Given the description of an element on the screen output the (x, y) to click on. 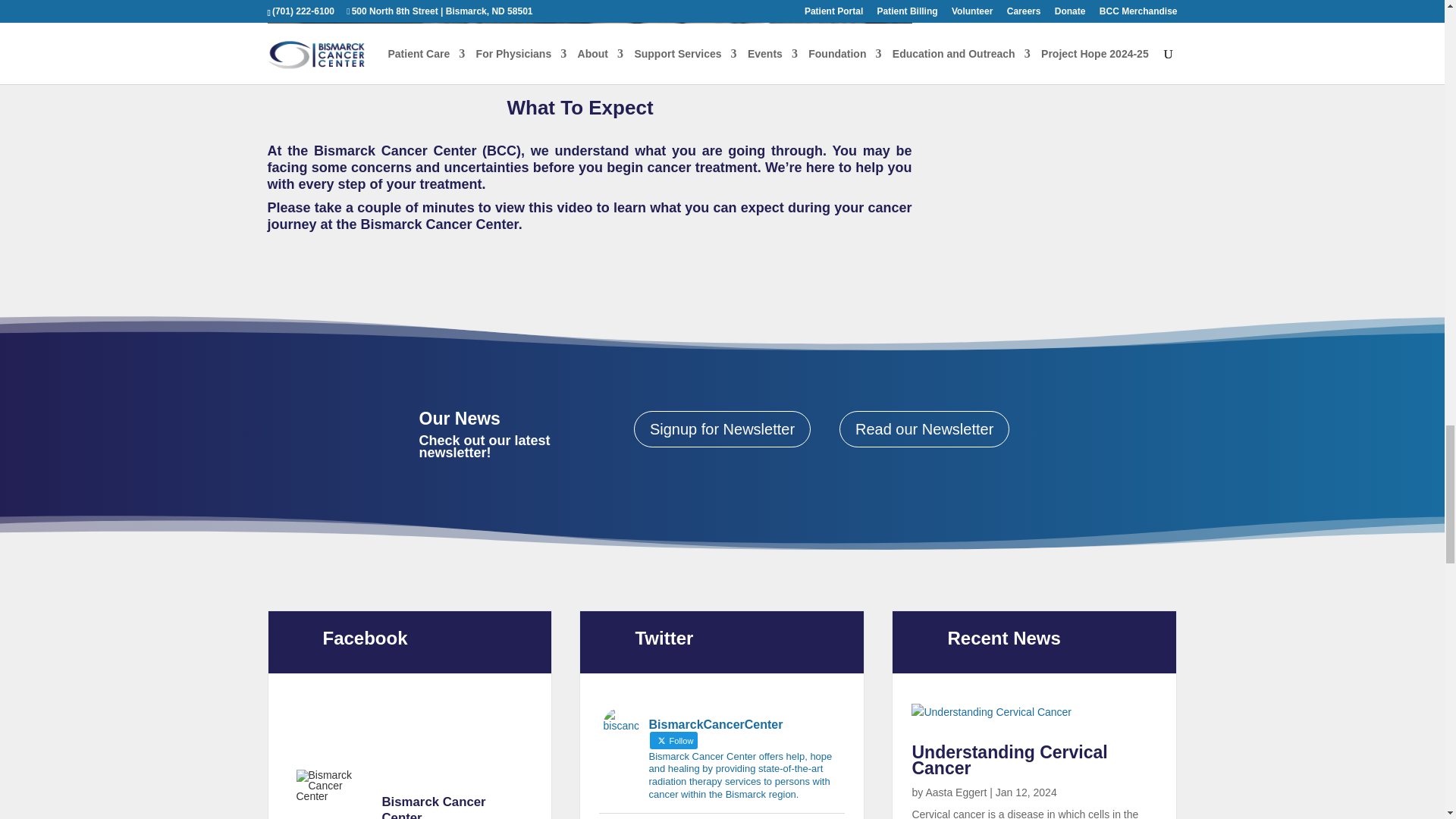
BCC - What To Expect 2018 (588, 40)
Bismarck Cancer Center (456, 806)
Posts by Aasta Eggert (955, 792)
Page 1 (588, 191)
Bismarck Cancer Center (331, 785)
